Given the description of an element on the screen output the (x, y) to click on. 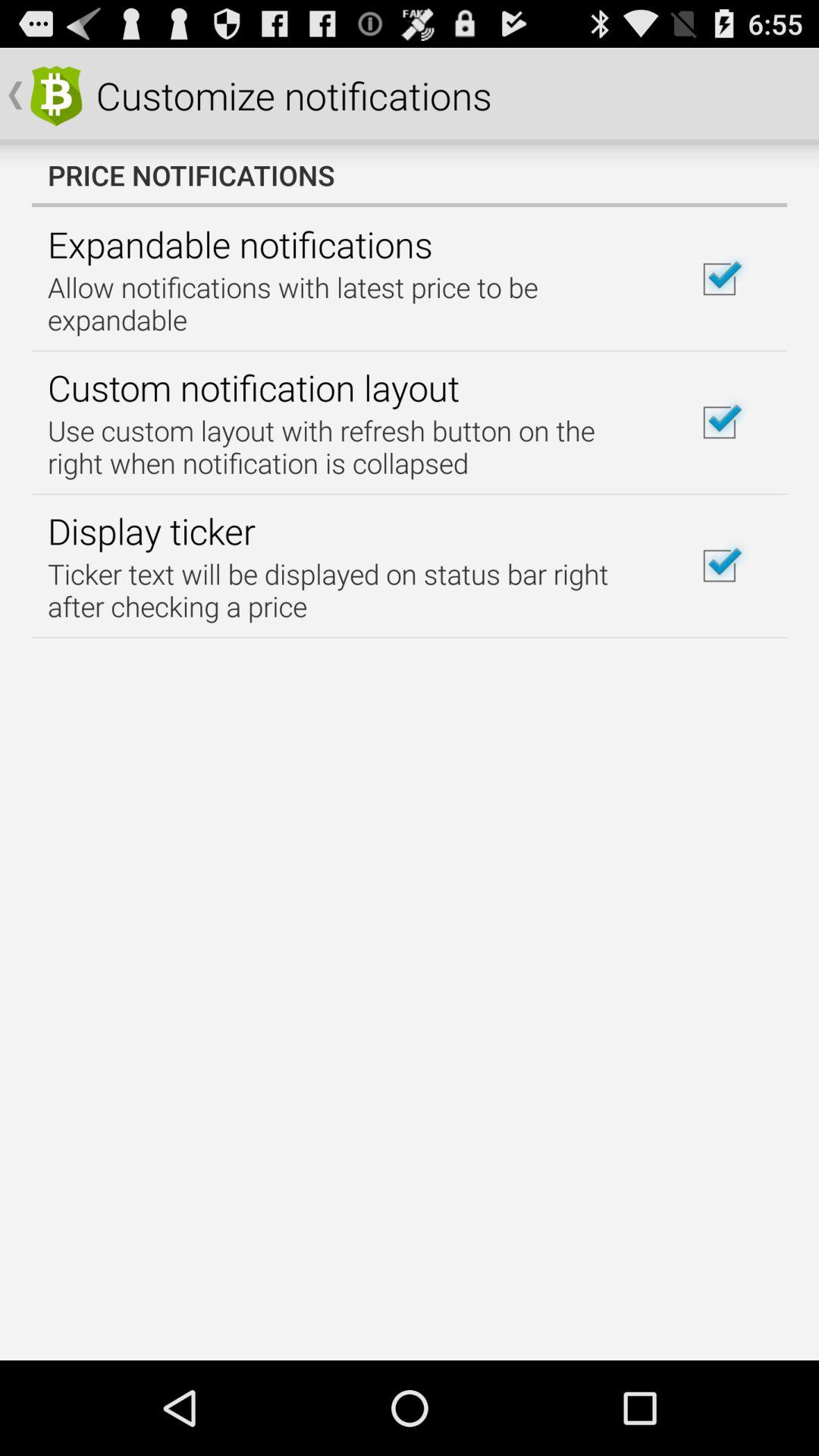
swipe until the display ticker (151, 530)
